Given the description of an element on the screen output the (x, y) to click on. 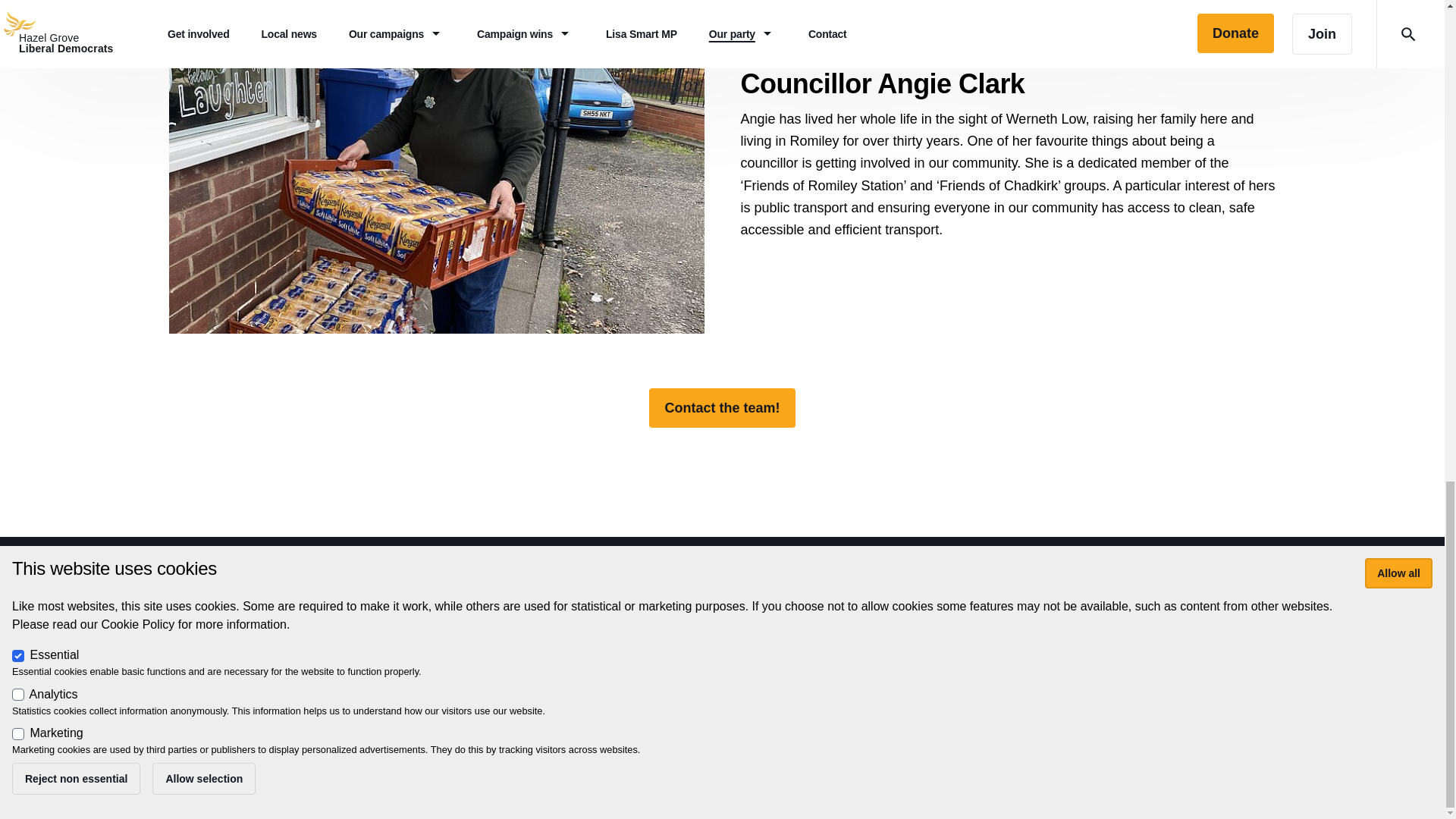
accessibility statement (635, 677)
Contact the team! (721, 407)
cookie policy (741, 677)
